Given the description of an element on the screen output the (x, y) to click on. 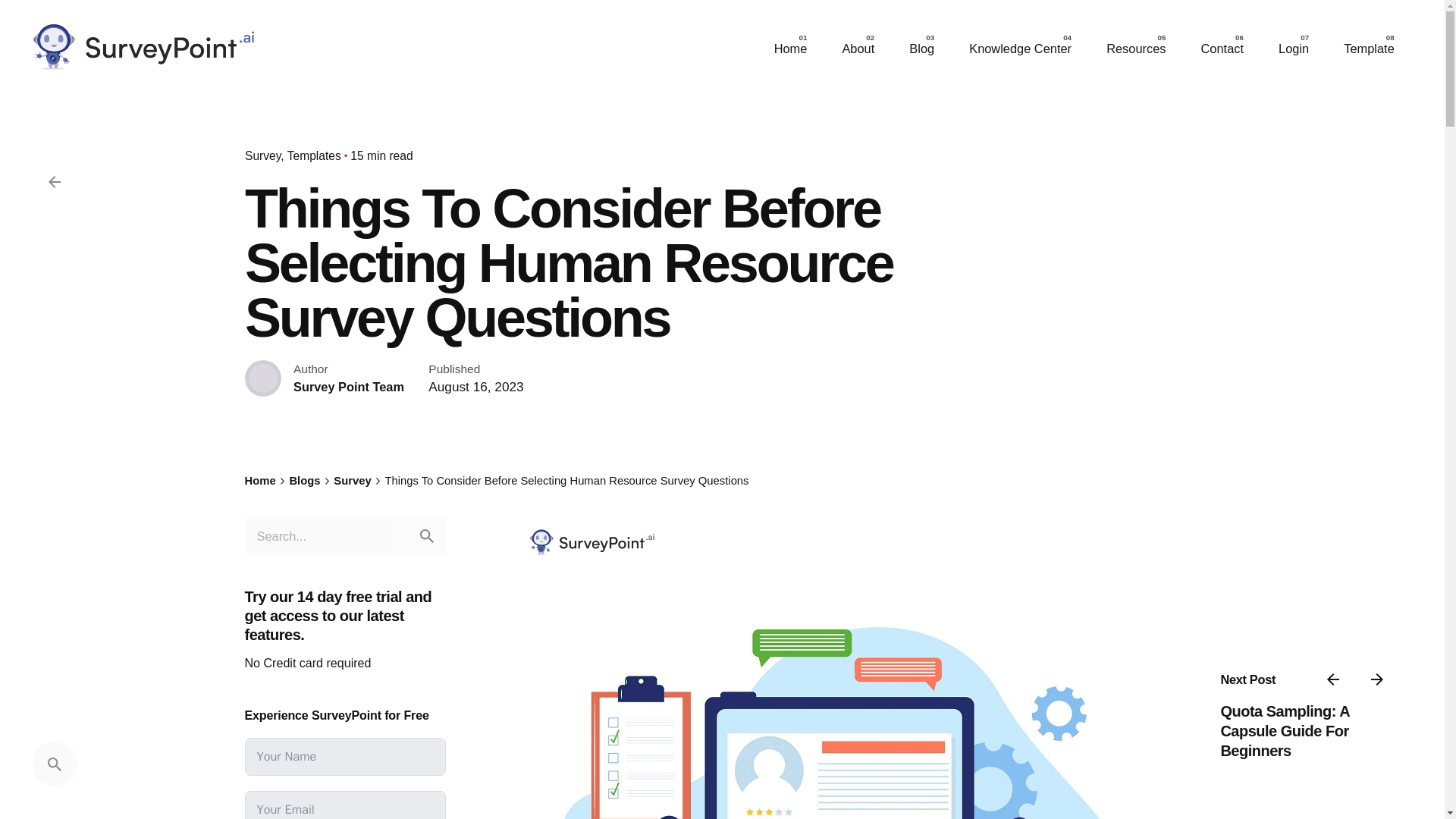
Contact (1221, 49)
Resources (1135, 49)
Home (259, 480)
Home (791, 49)
Login (1293, 49)
Knowledge Center (1020, 49)
Survey (263, 155)
About (857, 49)
Blogs (304, 480)
Template (1369, 49)
